Given the description of an element on the screen output the (x, y) to click on. 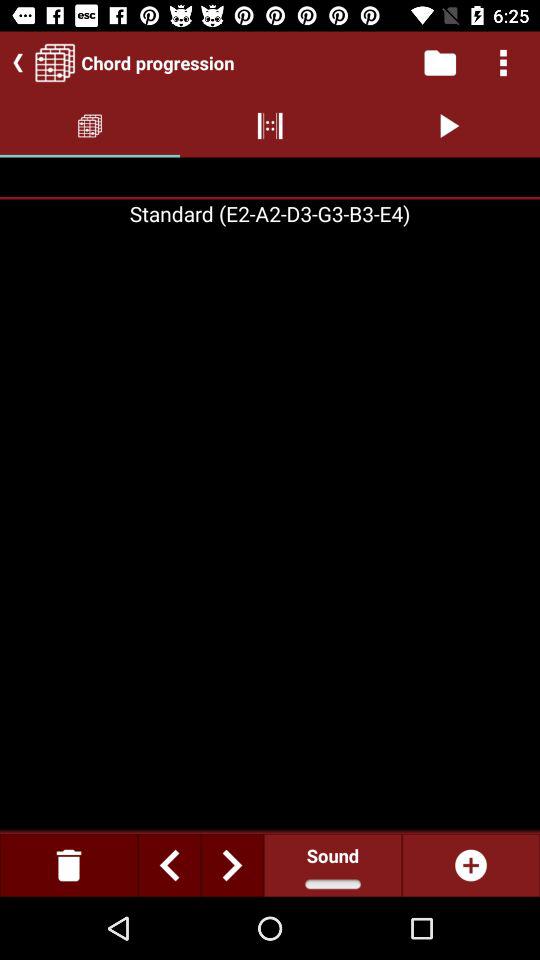
select standard e2a2d3g3b3e4 on the page (269, 213)
select the option previous beside the delete option (169, 865)
click on the option which to the left side of play option (269, 126)
click on file (440, 62)
click on  (470, 865)
